Given the description of an element on the screen output the (x, y) to click on. 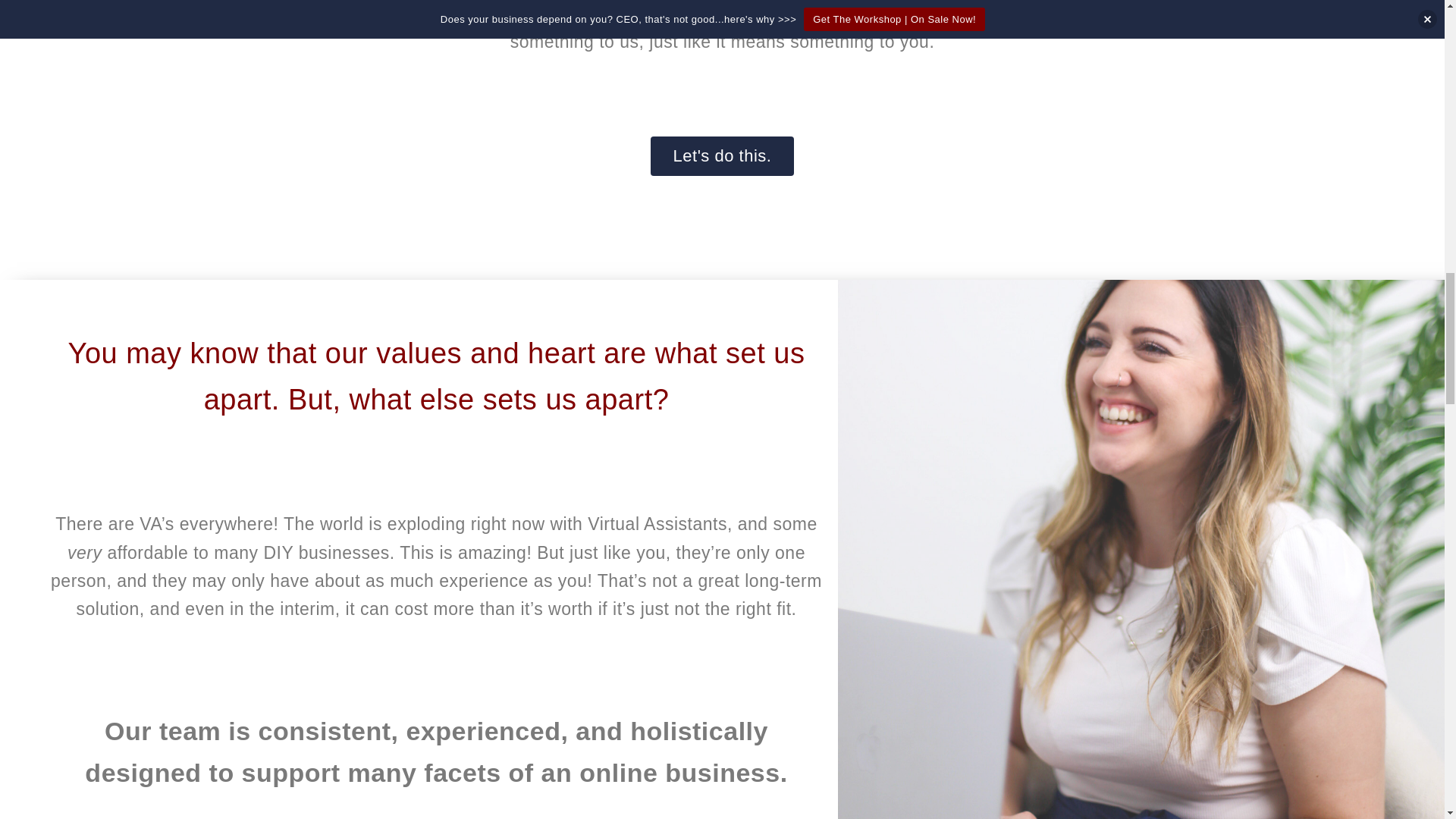
Let's do this. (722, 156)
